Given the description of an element on the screen output the (x, y) to click on. 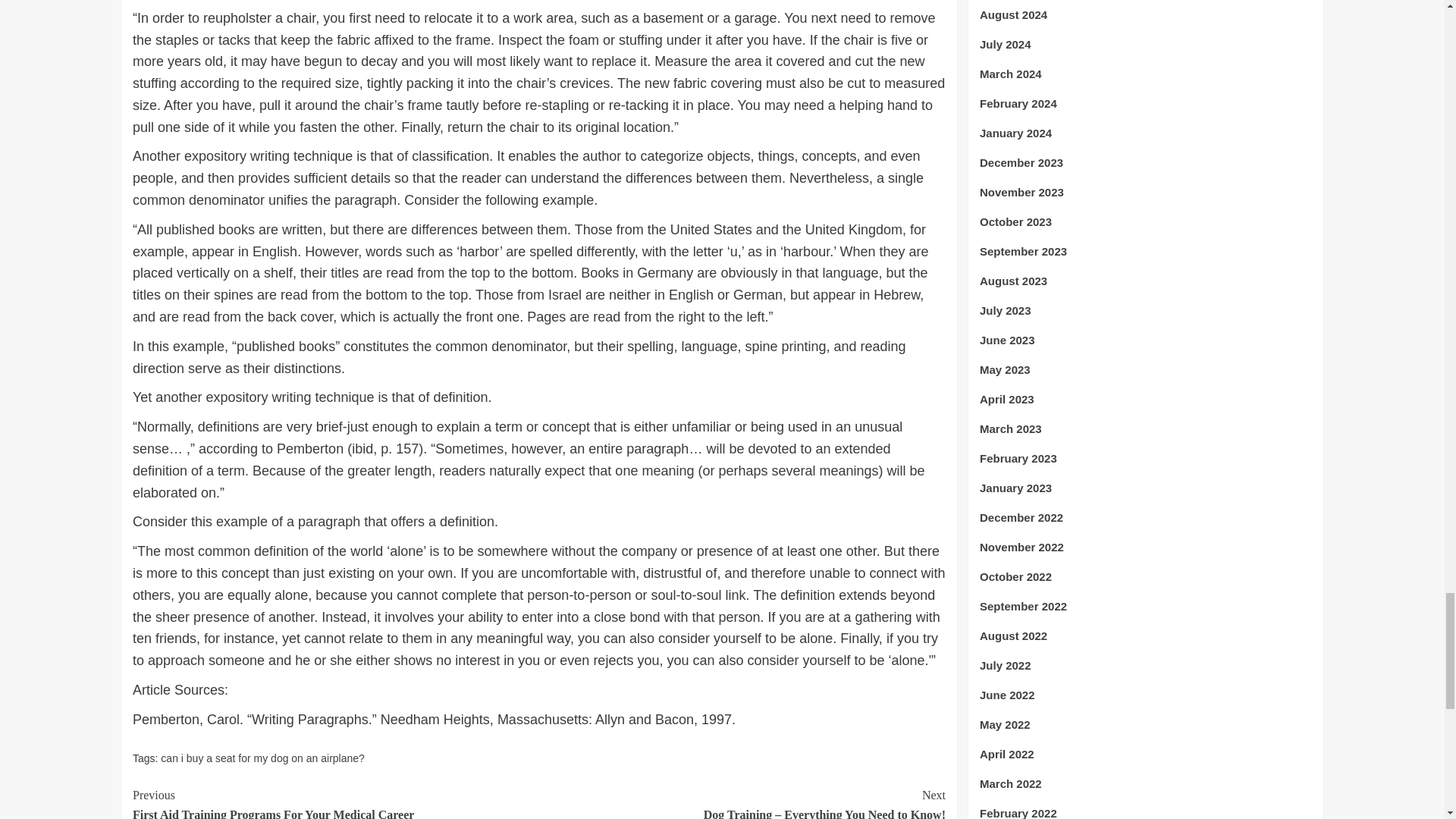
can i buy a seat for my dog on an airplane? (335, 802)
